Given the description of an element on the screen output the (x, y) to click on. 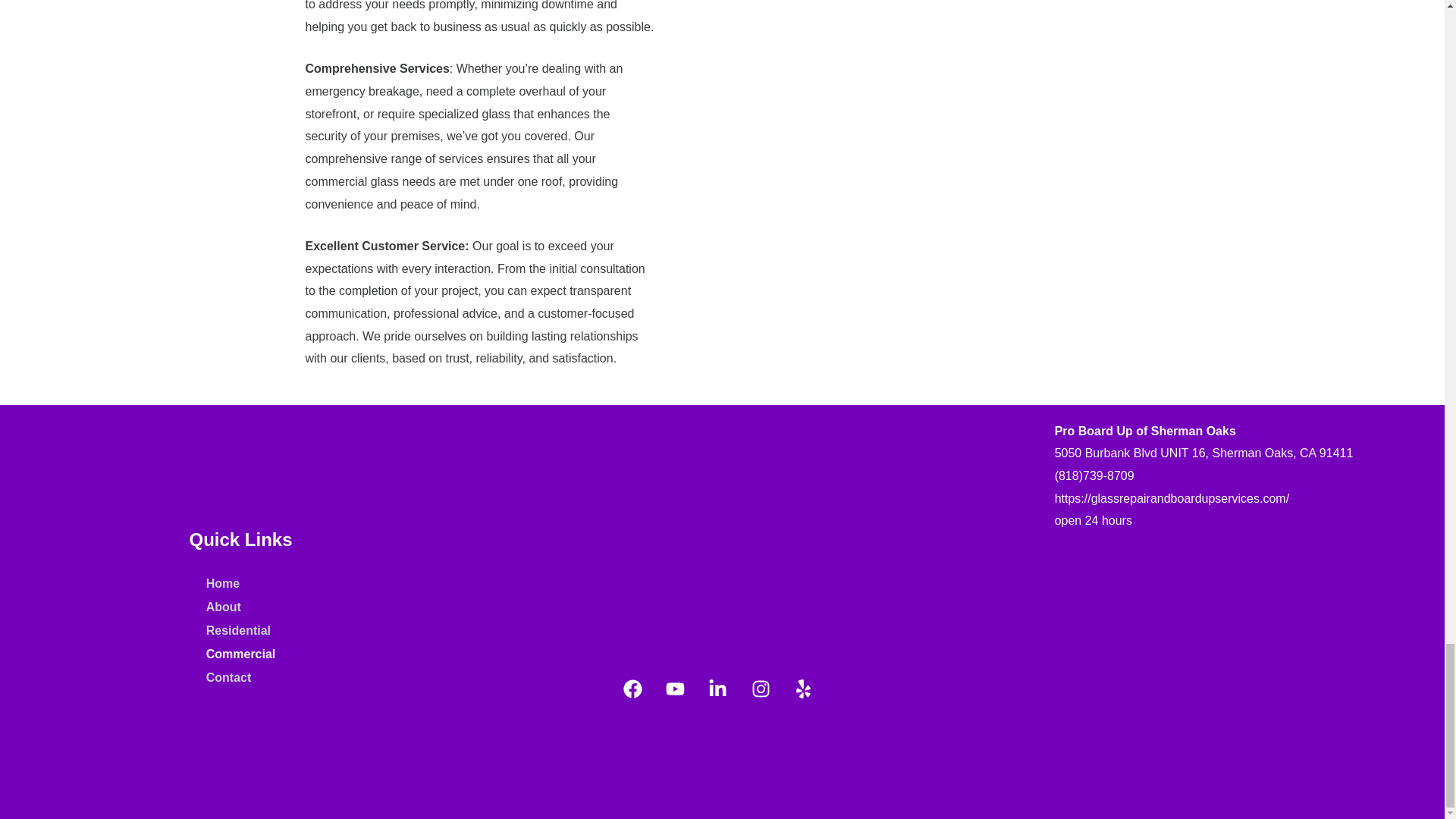
About (240, 606)
Residential (240, 630)
Home (240, 583)
